Given the description of an element on the screen output the (x, y) to click on. 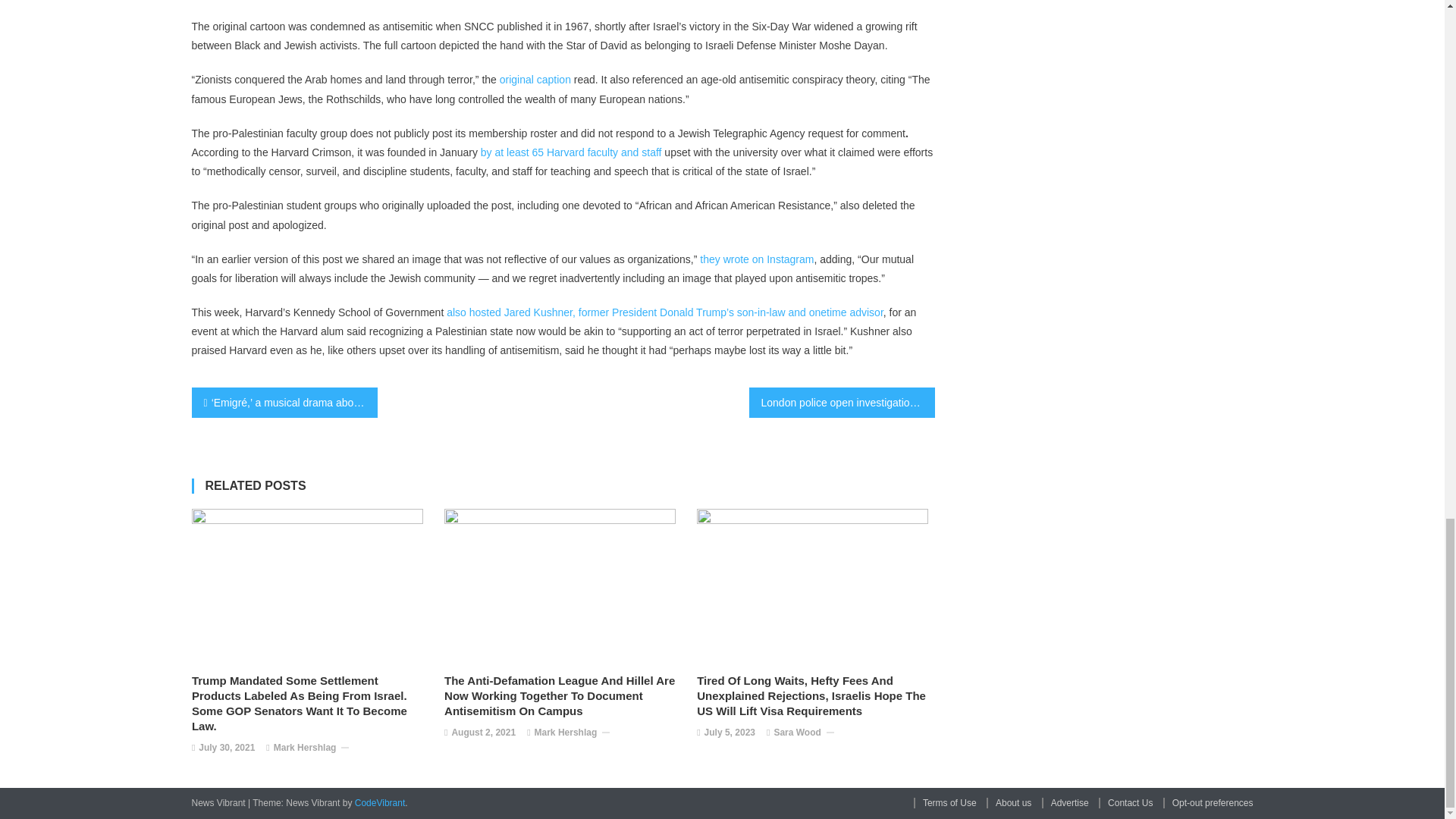
July 30, 2021 (226, 748)
original caption (534, 79)
Mark Hershlag (304, 748)
they wrote on Instagram (756, 259)
by at least 65 Harvard faculty and staff (571, 152)
